Given the description of an element on the screen output the (x, y) to click on. 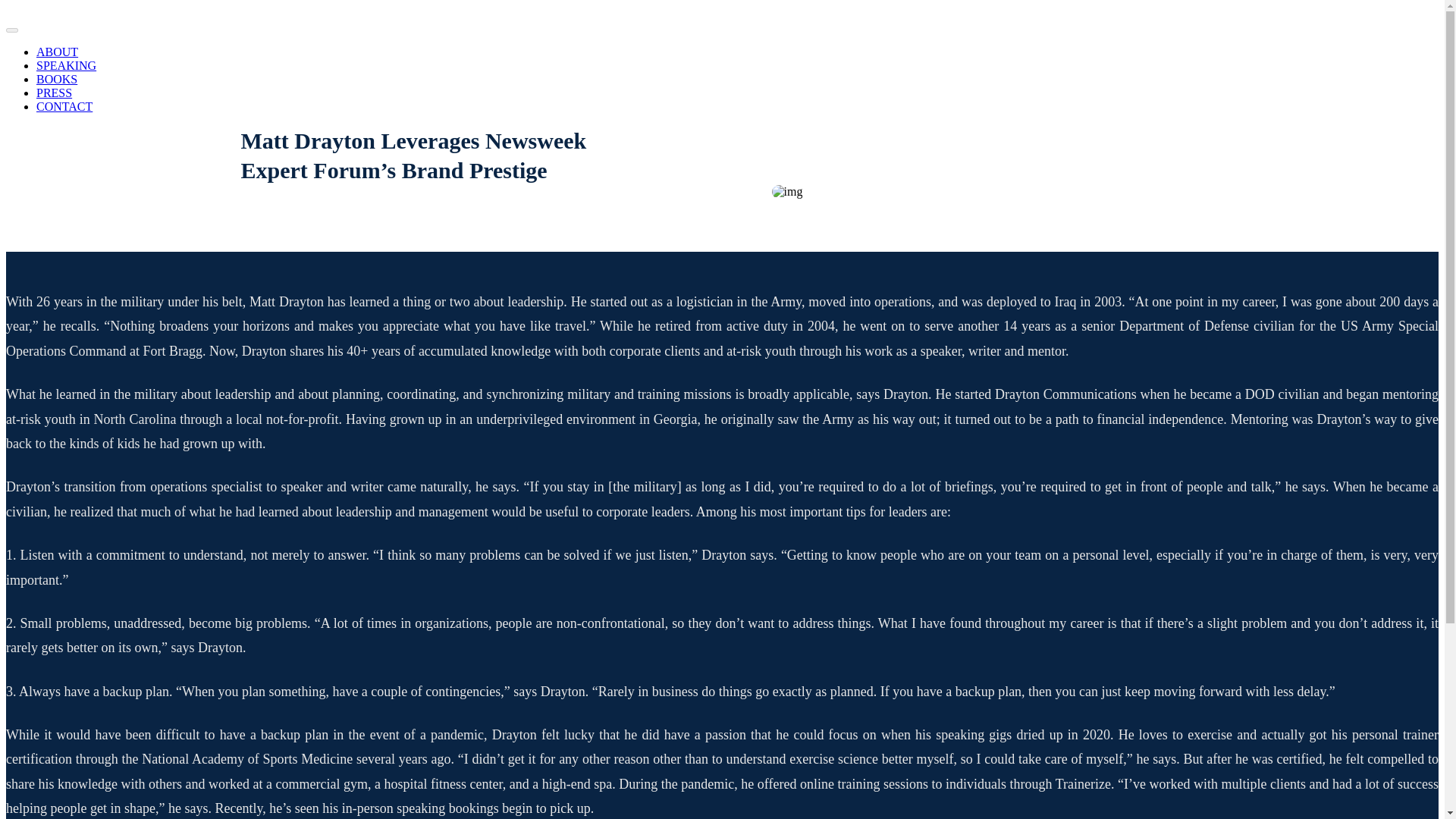
CONTACT (64, 106)
BOOKS (56, 78)
ABOUT (57, 51)
SPEAKING (66, 65)
PRESS (53, 92)
